Given the description of an element on the screen output the (x, y) to click on. 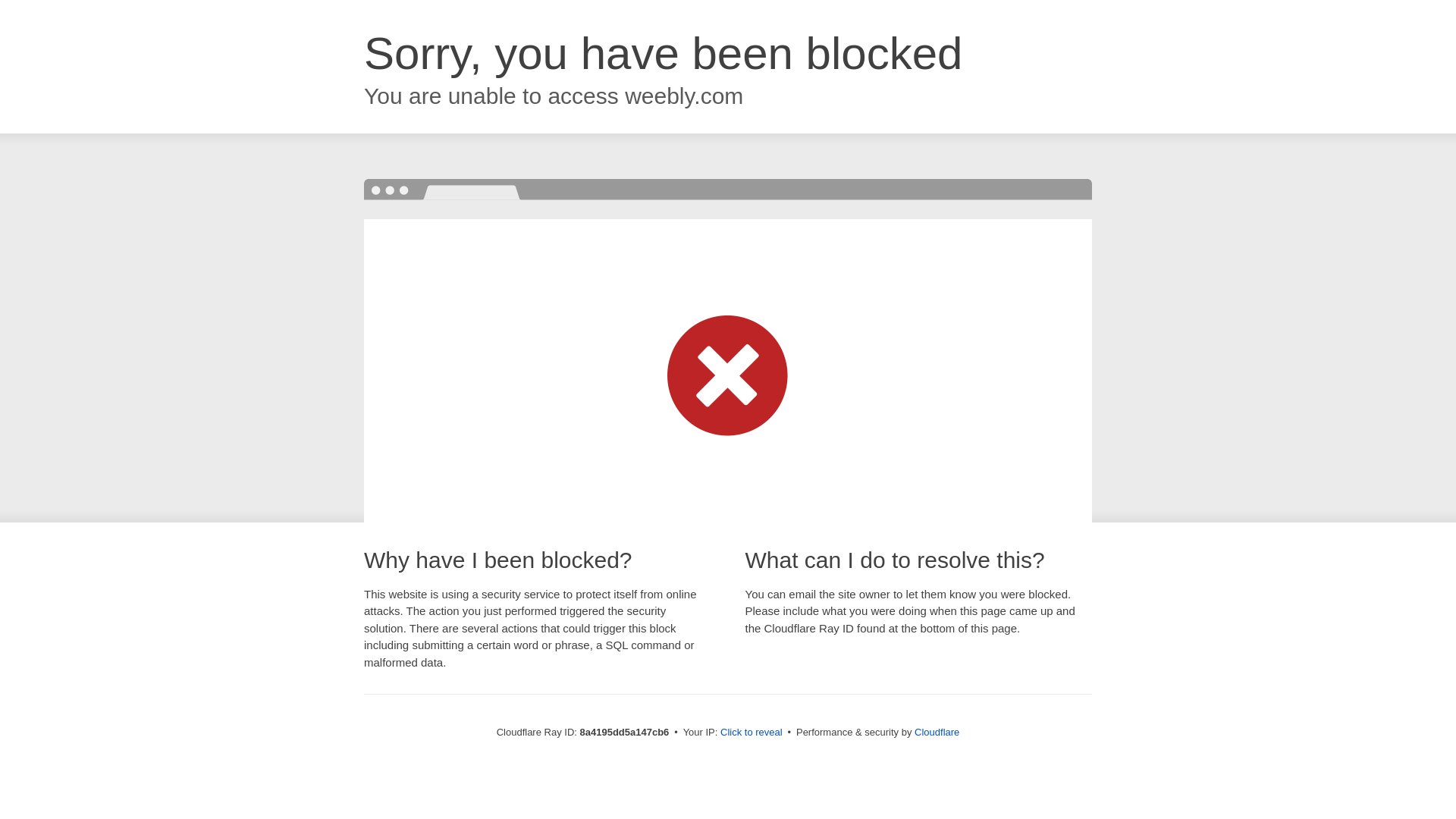
Cloudflare (936, 731)
Click to reveal (751, 732)
